Given the description of an element on the screen output the (x, y) to click on. 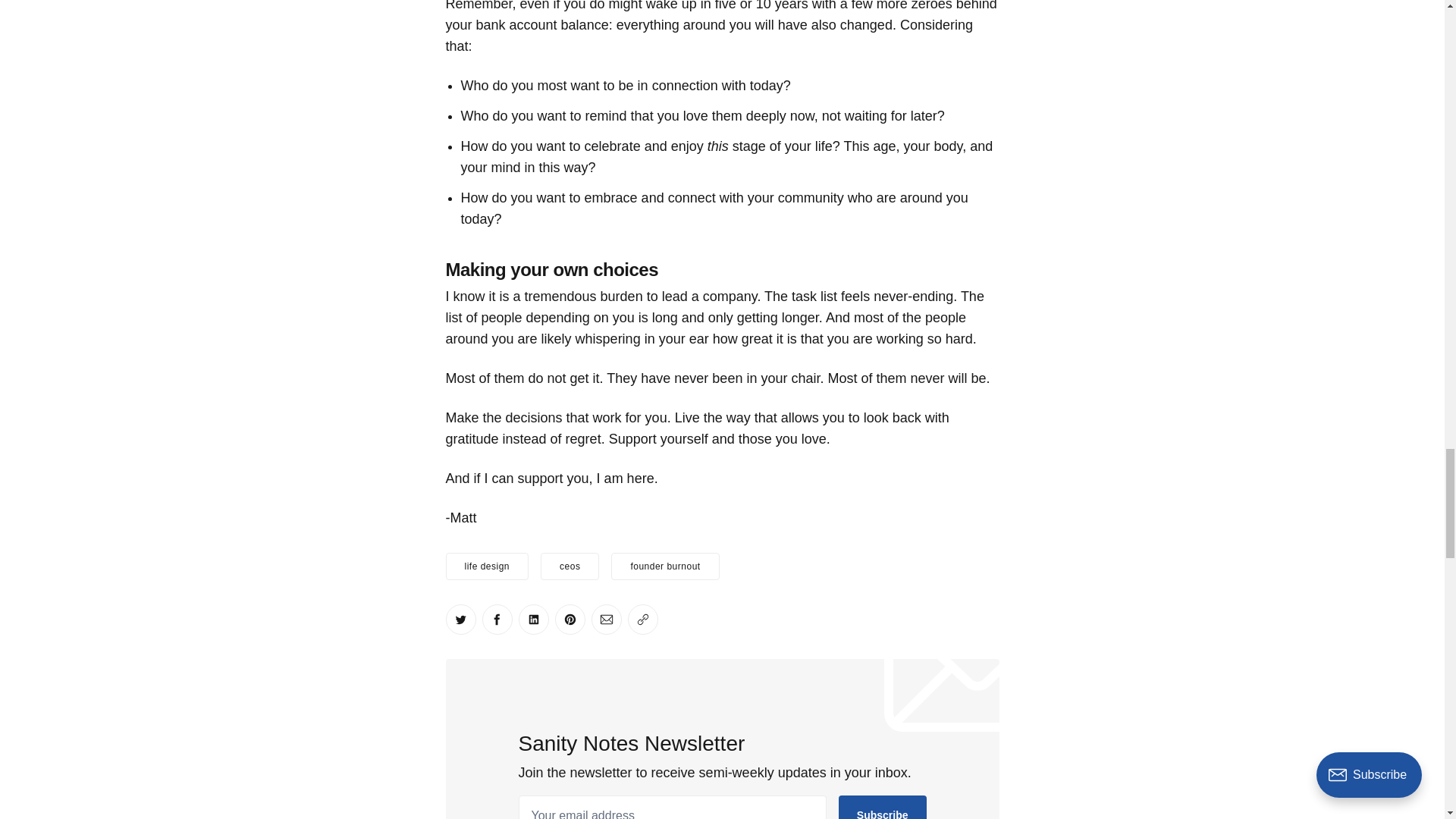
Share on Twitter (460, 619)
Copy link (642, 619)
Share via Email (606, 619)
founder burnout (665, 565)
Share on LinkedIn (533, 619)
Share on Pinterest (569, 619)
life design (487, 565)
ceos (569, 565)
Subscribe (882, 807)
Share on Facebook (496, 619)
